Given the description of an element on the screen output the (x, y) to click on. 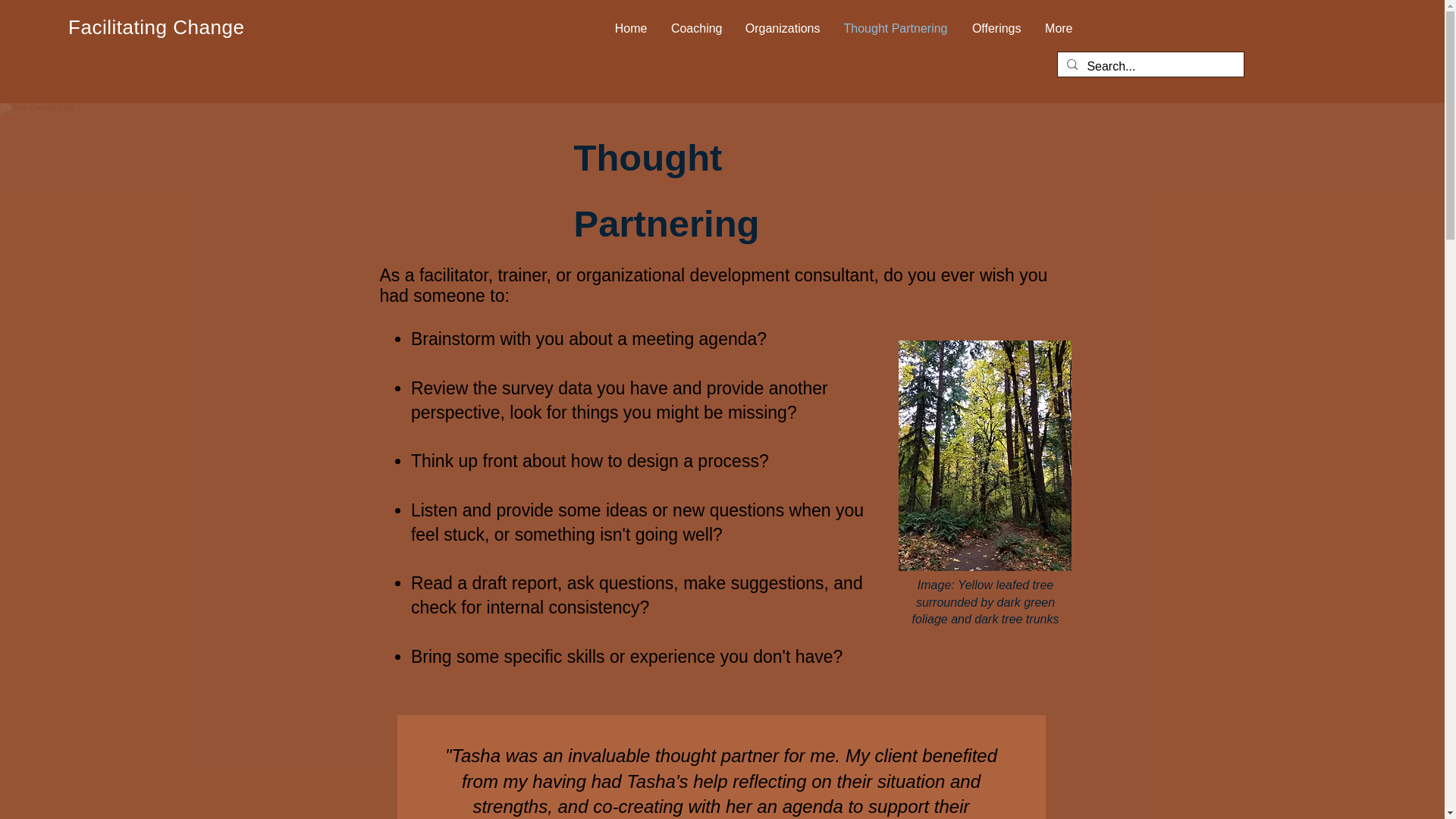
Home (630, 28)
Offerings (995, 28)
Facilitating Change (156, 26)
Thought Partnering (894, 28)
